Given the description of an element on the screen output the (x, y) to click on. 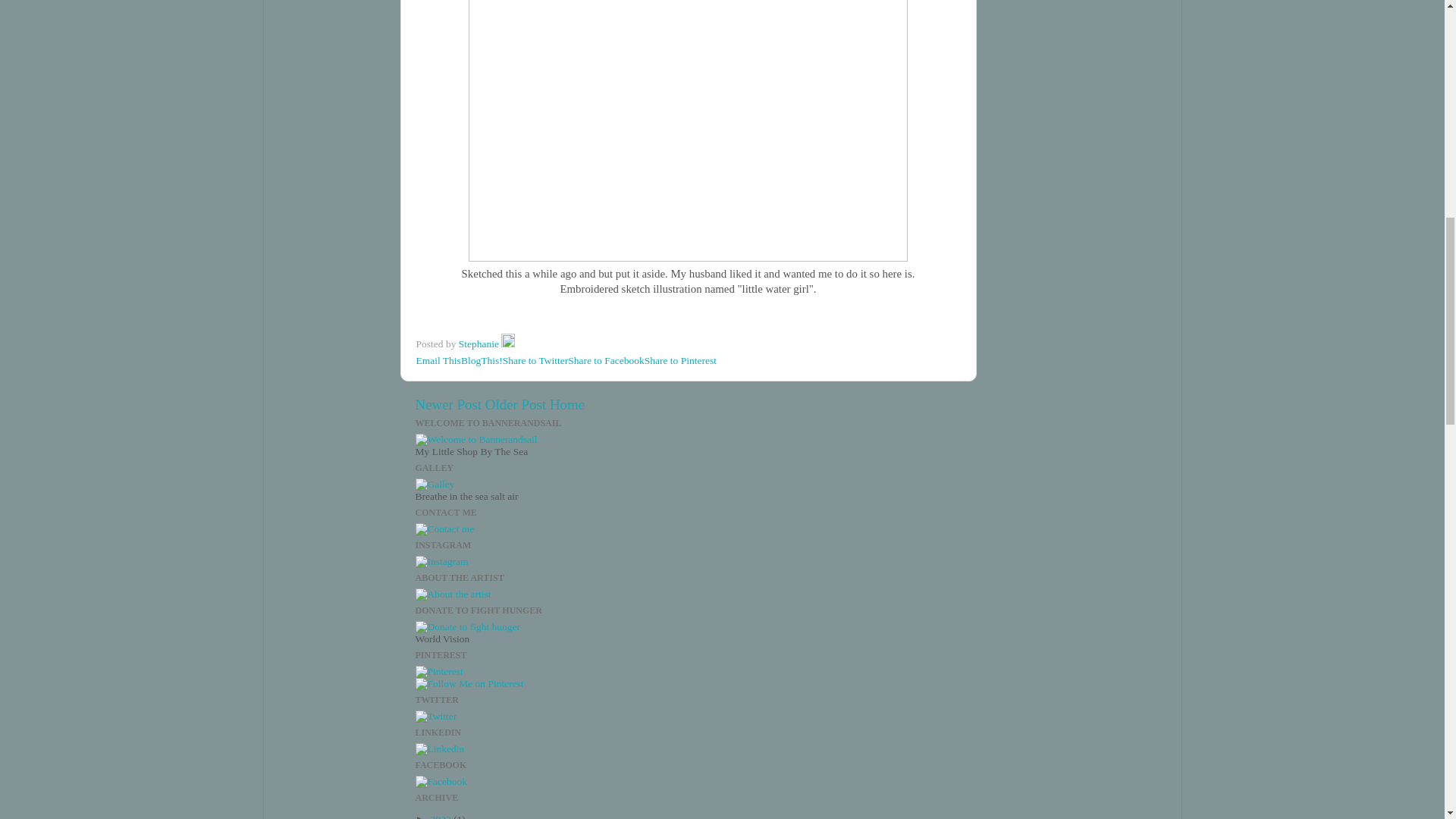
Share to Twitter (535, 360)
Edit Post (507, 343)
Share to Pinterest (680, 360)
Share to Pinterest (680, 360)
Stephanie (480, 343)
author profile (480, 343)
Share to Facebook (605, 360)
Share to Facebook (605, 360)
Older Post (515, 404)
Newer Post (447, 404)
Email This (437, 360)
Email This (437, 360)
BlogThis! (481, 360)
Newer Post (447, 404)
BlogThis! (481, 360)
